Given the description of an element on the screen output the (x, y) to click on. 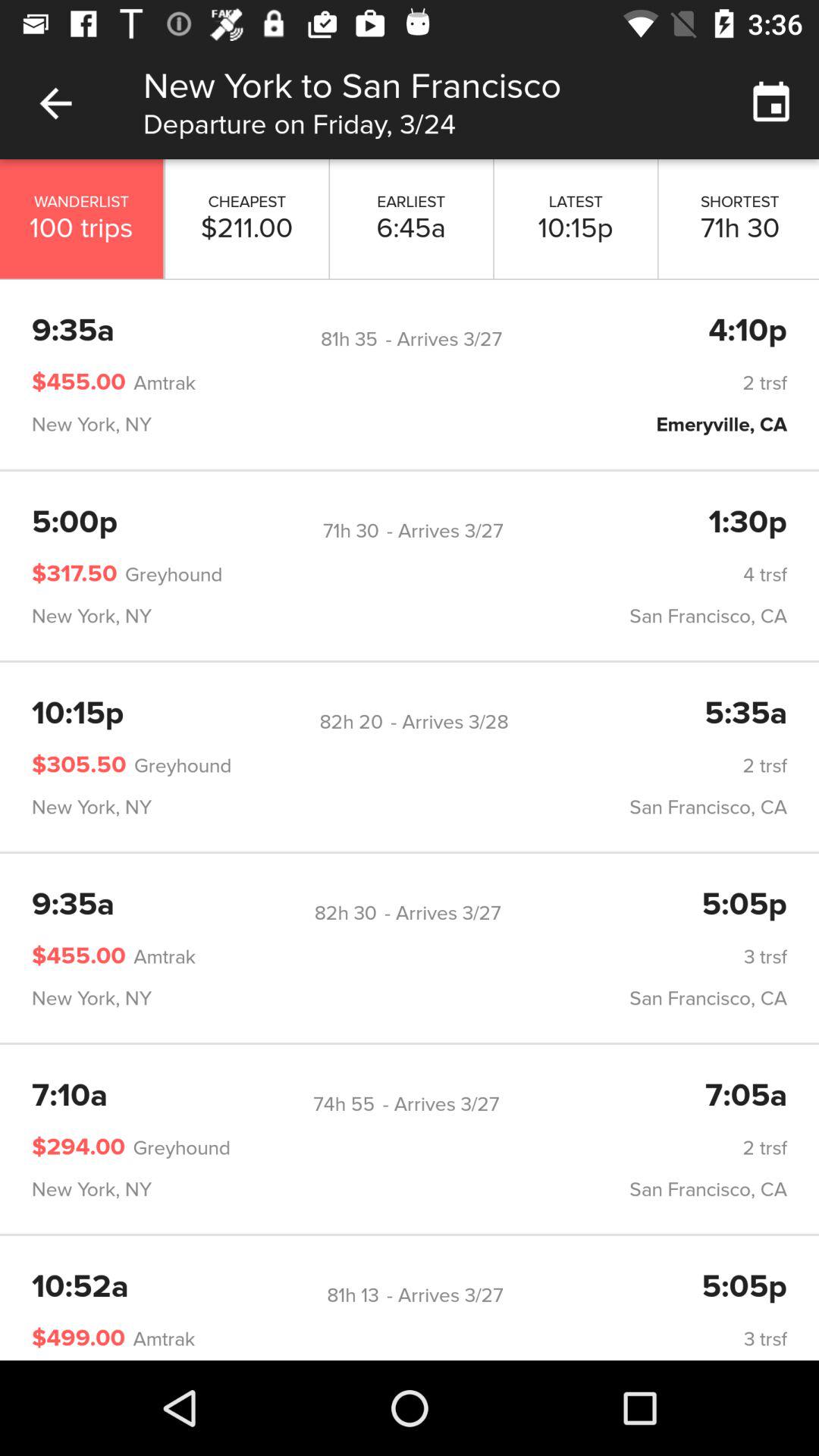
open the item below new york, ny (343, 1104)
